Given the description of an element on the screen output the (x, y) to click on. 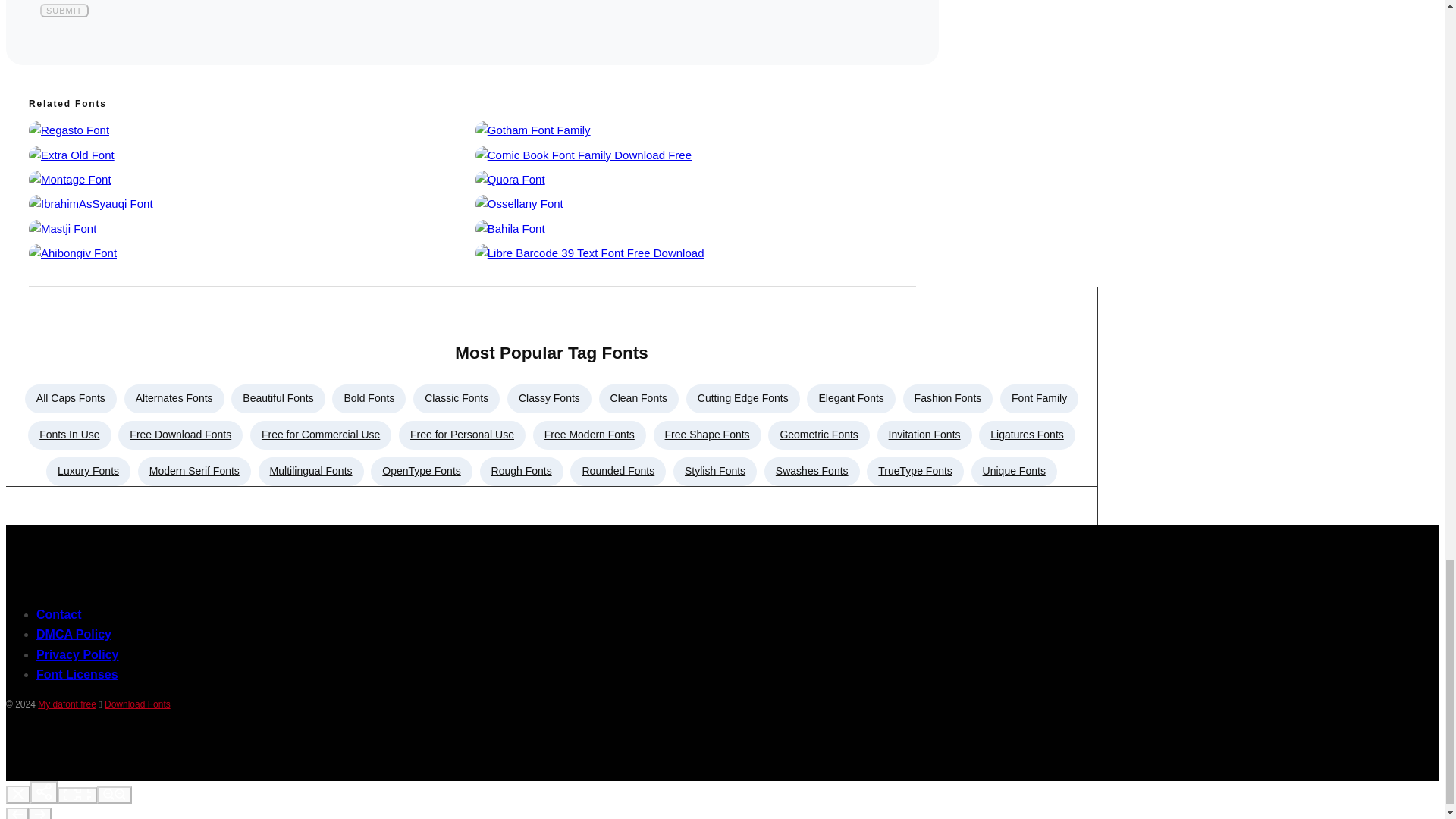
Extra Old Font (72, 154)
Ahibongiv Font (72, 252)
Mastji Font (62, 228)
Montage Font (70, 178)
Quora Font (510, 178)
Share (44, 792)
Ossellany Font (519, 203)
Gotham Font Family (533, 129)
Submit (64, 10)
Toggle fullscreen (77, 795)
Close (17, 794)
Libre Barcode 39 Text Font Free Download (590, 252)
IbrahimAsSyauqi Font (90, 203)
Comic Book Font Family Download Free (583, 154)
Bahila Font (510, 228)
